Given the description of an element on the screen output the (x, y) to click on. 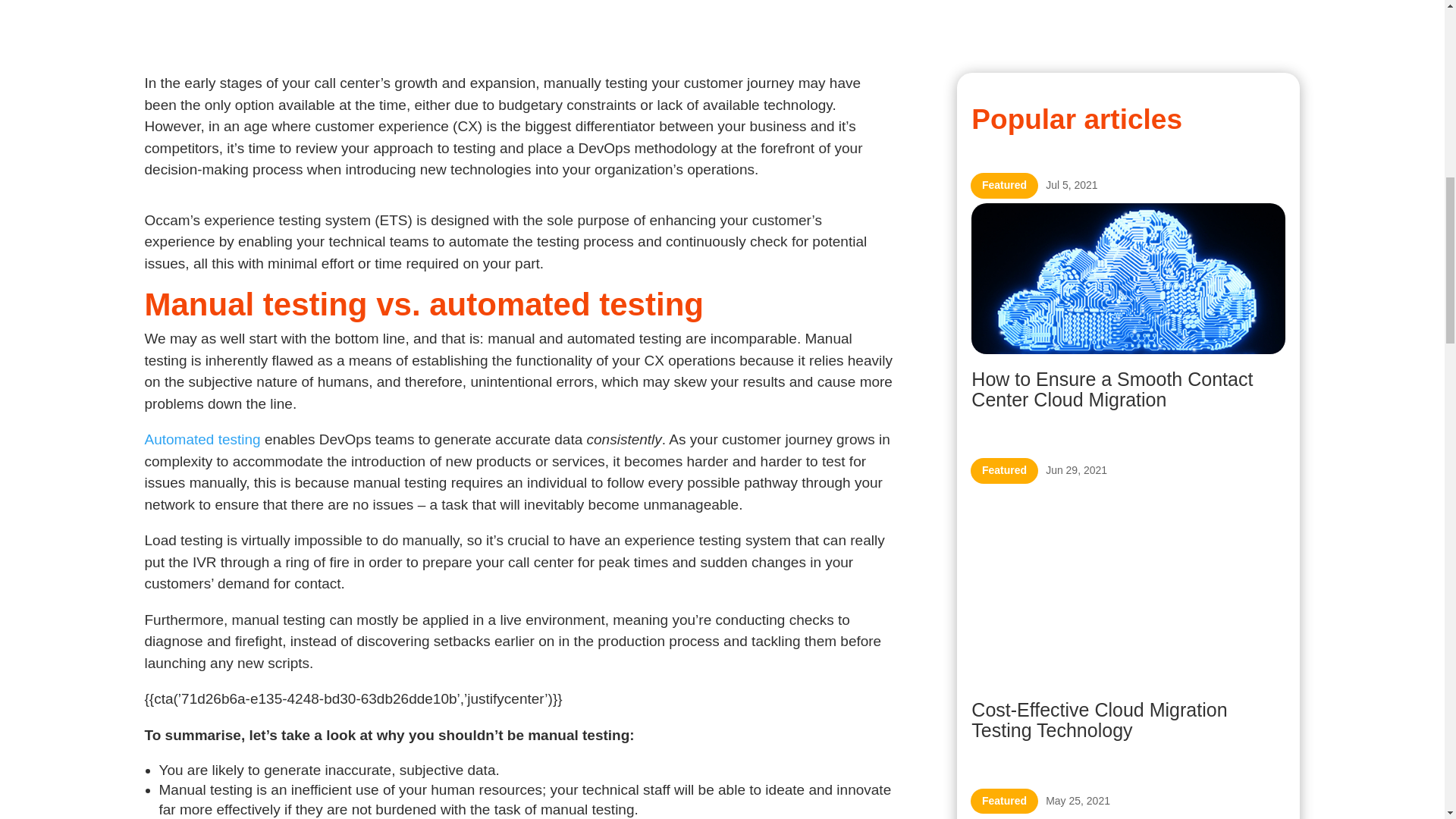
Automated testing (202, 439)
Featured (1004, 470)
How to Ensure a Smooth Contact Center Cloud Migration (1111, 389)
Featured (1004, 801)
Cost-Effective Cloud Migration Testing Technology (1099, 720)
Featured (1004, 185)
